Given the description of an element on the screen output the (x, y) to click on. 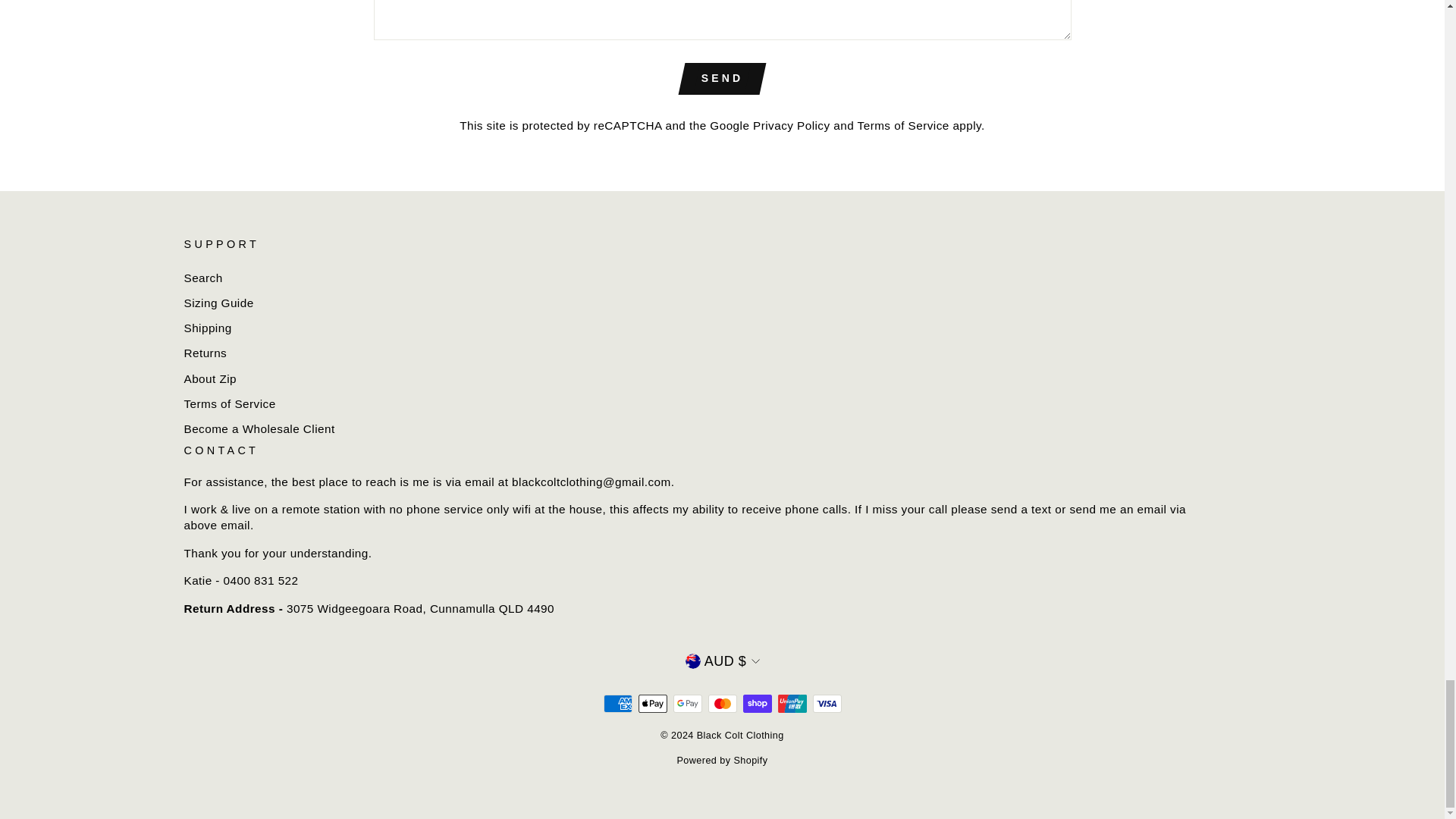
American Express (617, 703)
Visa (826, 703)
Union Pay (791, 703)
Mastercard (721, 703)
Apple Pay (652, 703)
Shop Pay (756, 703)
Google Pay (686, 703)
